Given the description of an element on the screen output the (x, y) to click on. 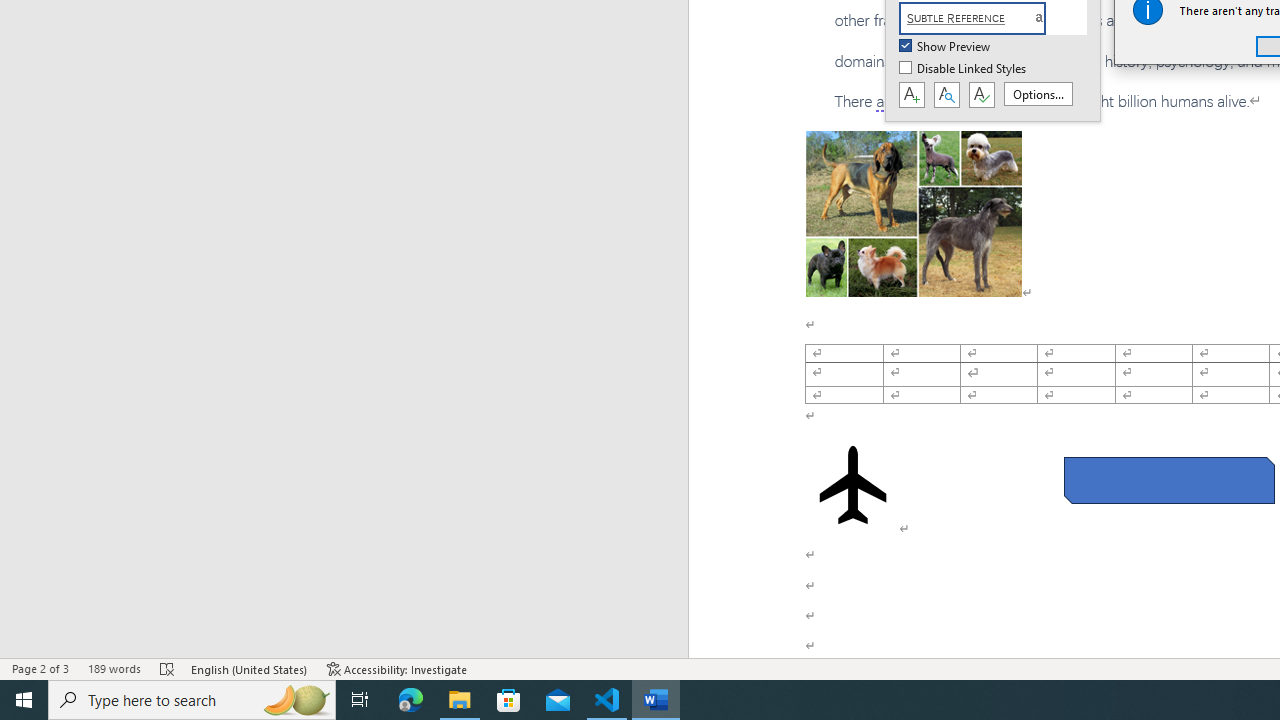
File Explorer - 1 running window (460, 699)
Visual Studio Code - 1 running window (607, 699)
Page Number Page 2 of 3 (39, 668)
Subtle Reference (984, 18)
Start (24, 699)
Class: NetUIButton (981, 95)
Disable Linked Styles (964, 69)
Microsoft Store (509, 699)
Word - 1 running window (656, 699)
Type here to search (191, 699)
Airplane with solid fill (852, 484)
Microsoft Edge (411, 699)
Spelling and Grammar Check Errors (168, 668)
